Given the description of an element on the screen output the (x, y) to click on. 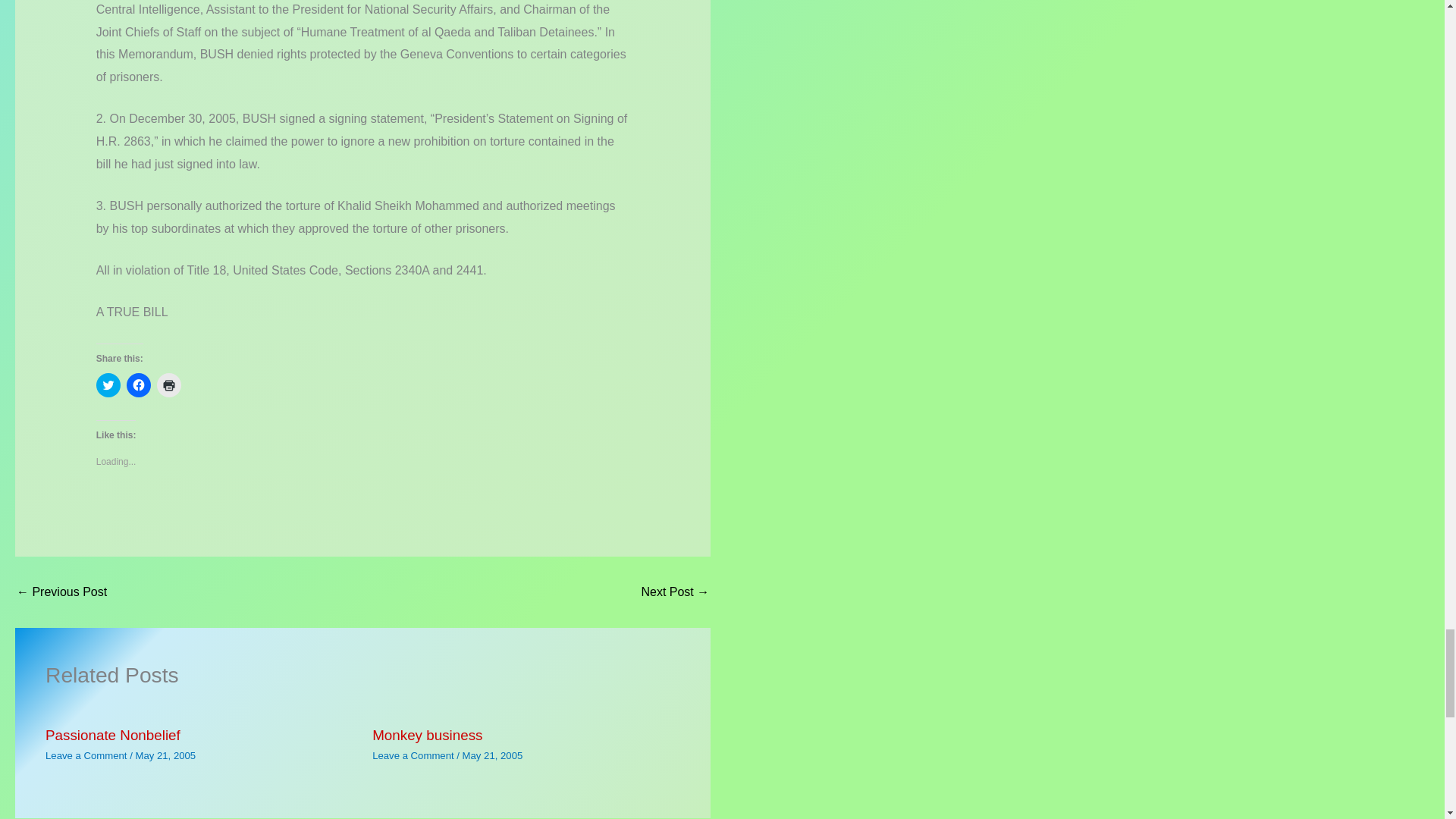
Click to share on Twitter (108, 385)
Click to print (168, 385)
16 Arrested at Aetna for Demanding Healthcare (674, 592)
Click to share on Facebook (138, 385)
Uplifting and Inspiring (61, 592)
